Given the description of an element on the screen output the (x, y) to click on. 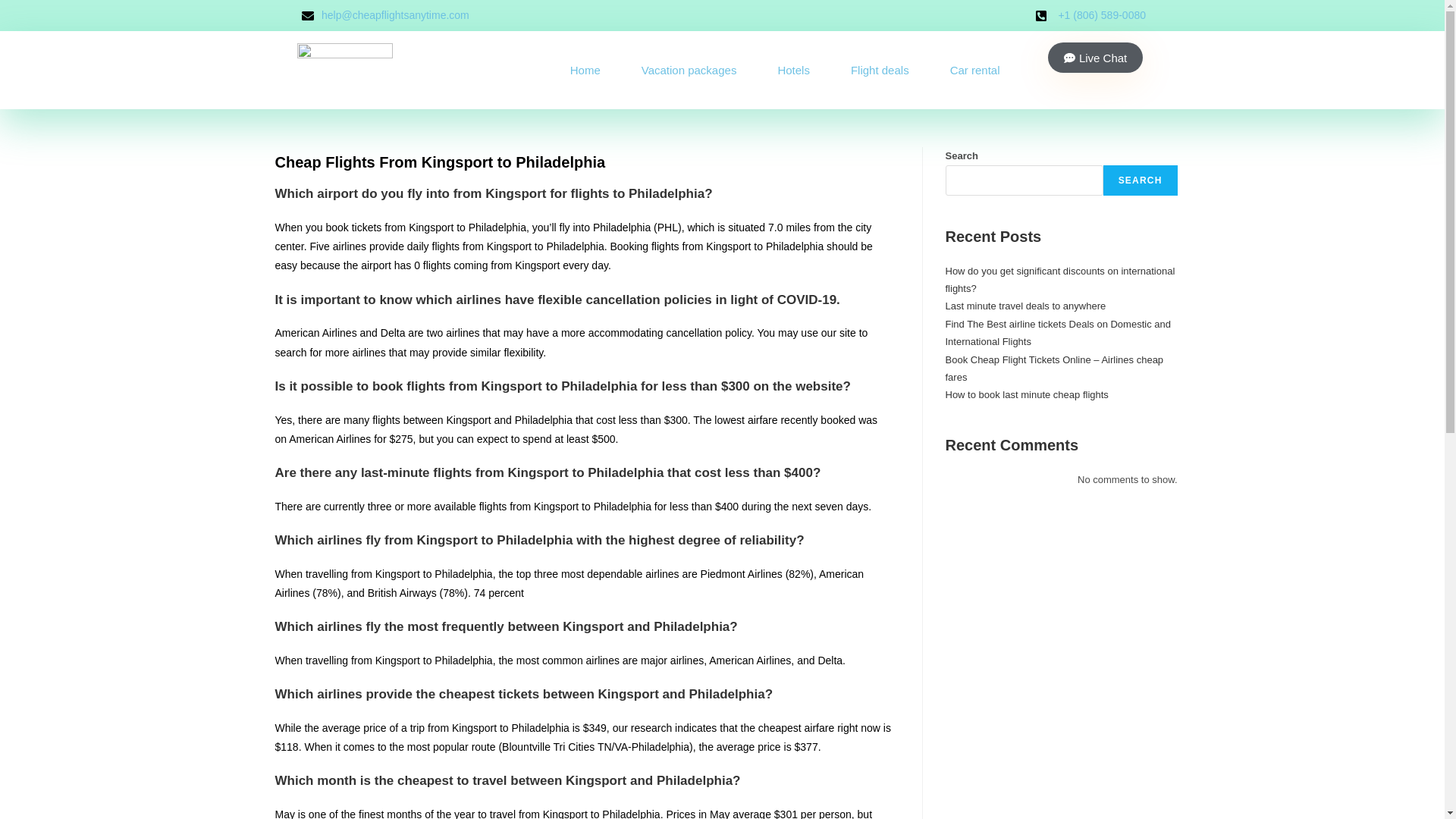
SEARCH (1140, 180)
Flight deals (877, 69)
Last minute travel deals to anywhere (1024, 306)
Home (582, 69)
Live Chat (1095, 57)
Vacation packages (686, 69)
How to book last minute cheap flights (1026, 394)
Car rental (972, 69)
Hotels (791, 69)
